Given the description of an element on the screen output the (x, y) to click on. 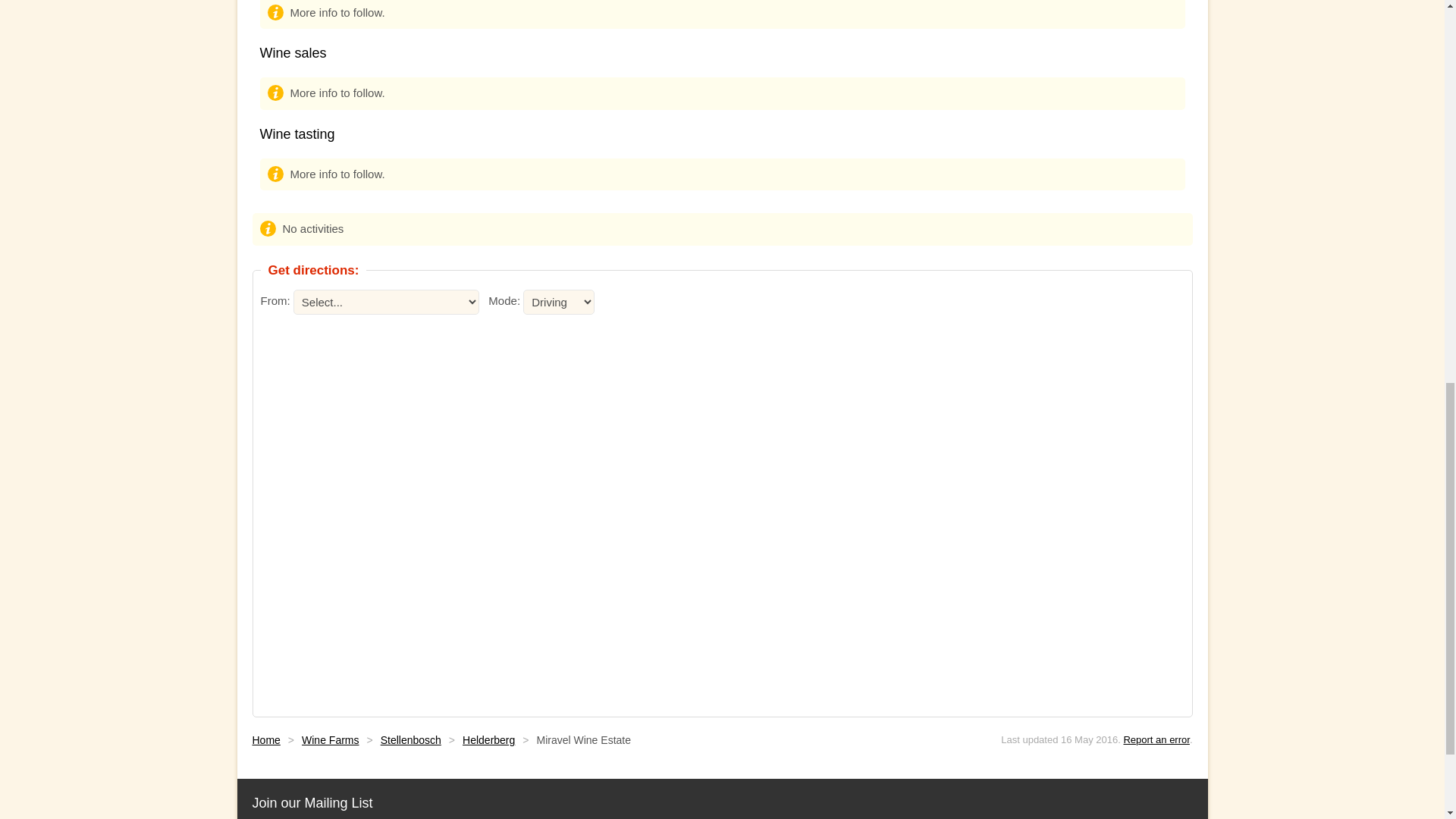
Home (265, 739)
Join our Mailing List (311, 802)
Wine sales (292, 52)
Wine Farms (329, 739)
Wine tasting (296, 133)
Stellenbosch (410, 739)
Helderberg (489, 739)
Report an error (1155, 739)
